Given the description of an element on the screen output the (x, y) to click on. 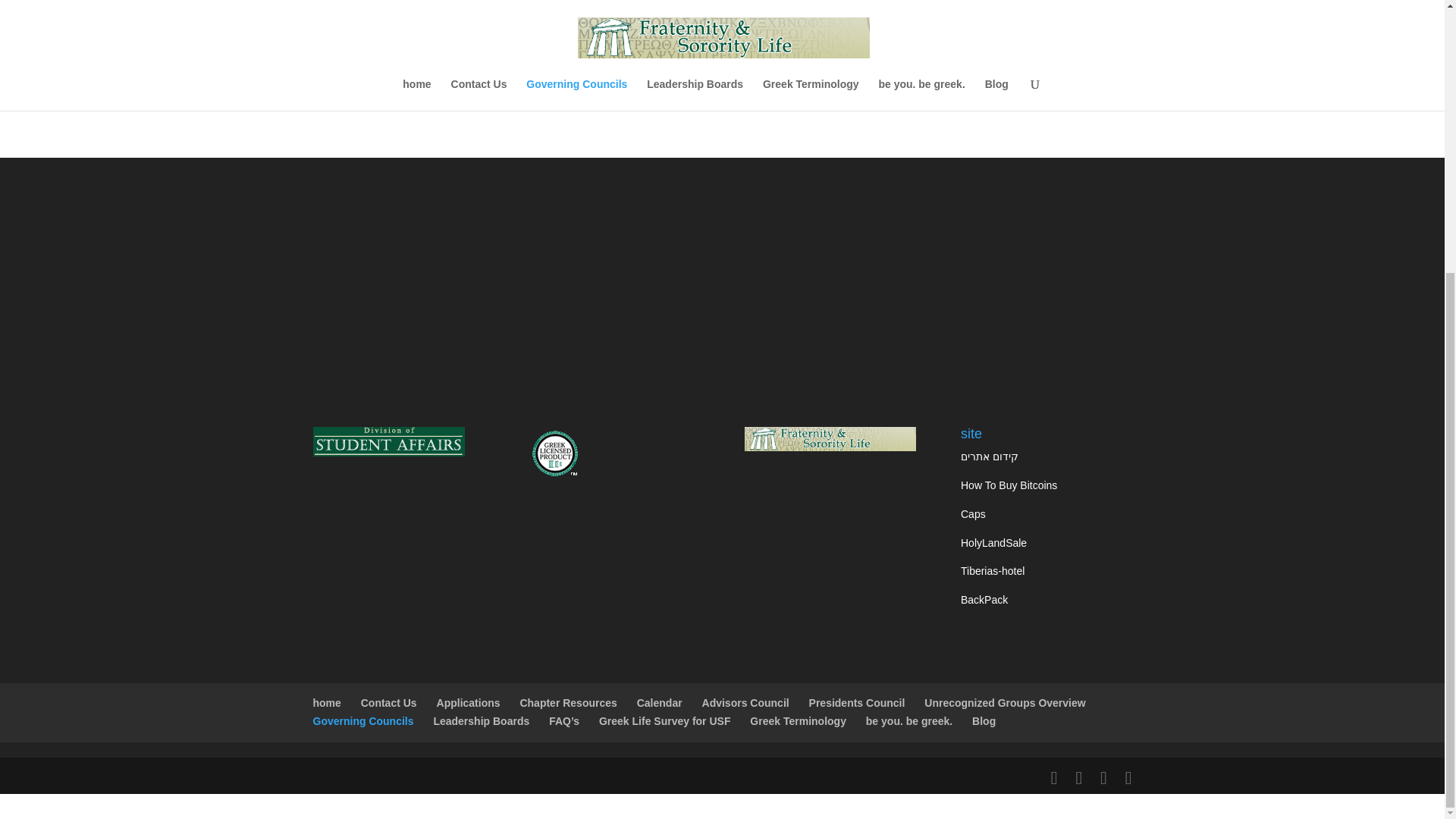
Chapter Resources (567, 702)
Applications (468, 702)
Governing Councils (363, 720)
Advisors Council (745, 702)
How To Buy Bitcoins (1008, 485)
Tiberias-hotel (992, 571)
BackPack (983, 599)
Calendar (659, 702)
be you. be greek. (909, 720)
HolyLandSale (993, 542)
Greek Life Survey for USF (664, 720)
Blog (983, 720)
home (326, 702)
Unrecognized Groups Overview (1004, 702)
